Given the description of an element on the screen output the (x, y) to click on. 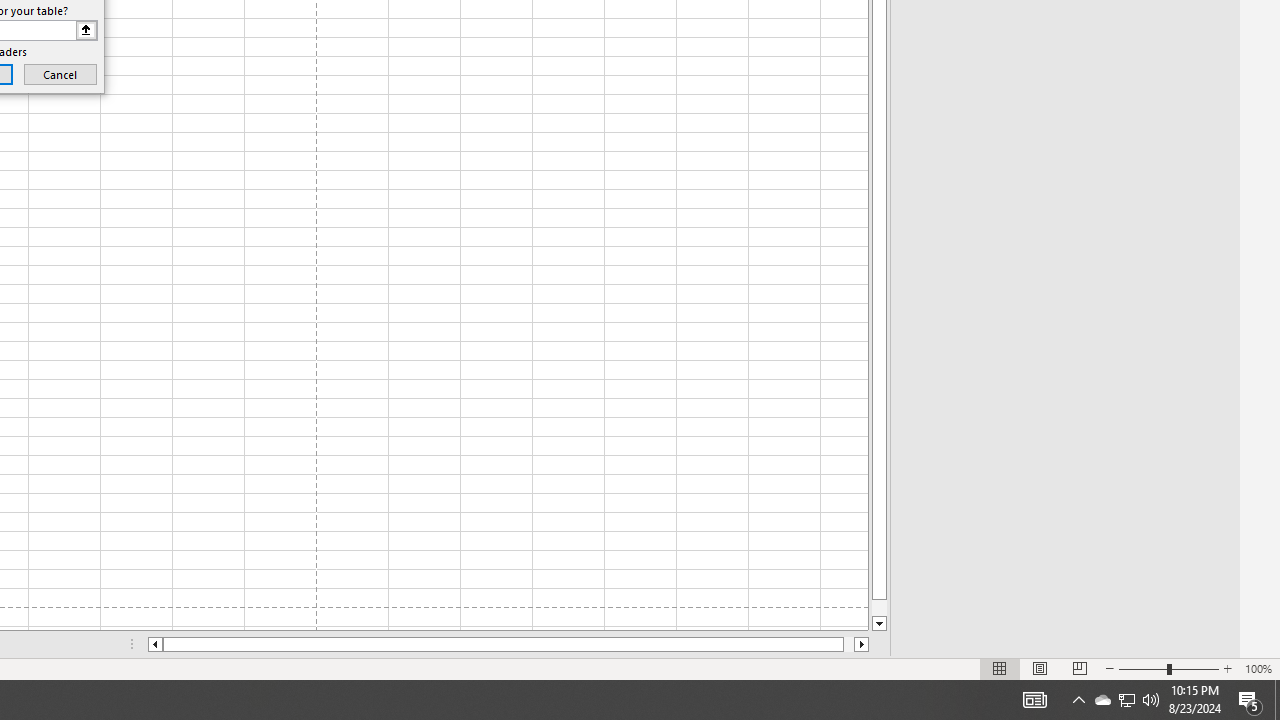
Zoom In (1227, 668)
Page Break Preview (1079, 668)
Normal (1000, 668)
Zoom (1168, 668)
Page Layout (1039, 668)
Zoom Out (1142, 668)
Page down (879, 607)
Page right (848, 644)
Column left (153, 644)
Column right (861, 644)
Class: NetUIScrollBar (507, 644)
Line down (879, 624)
